Given the description of an element on the screen output the (x, y) to click on. 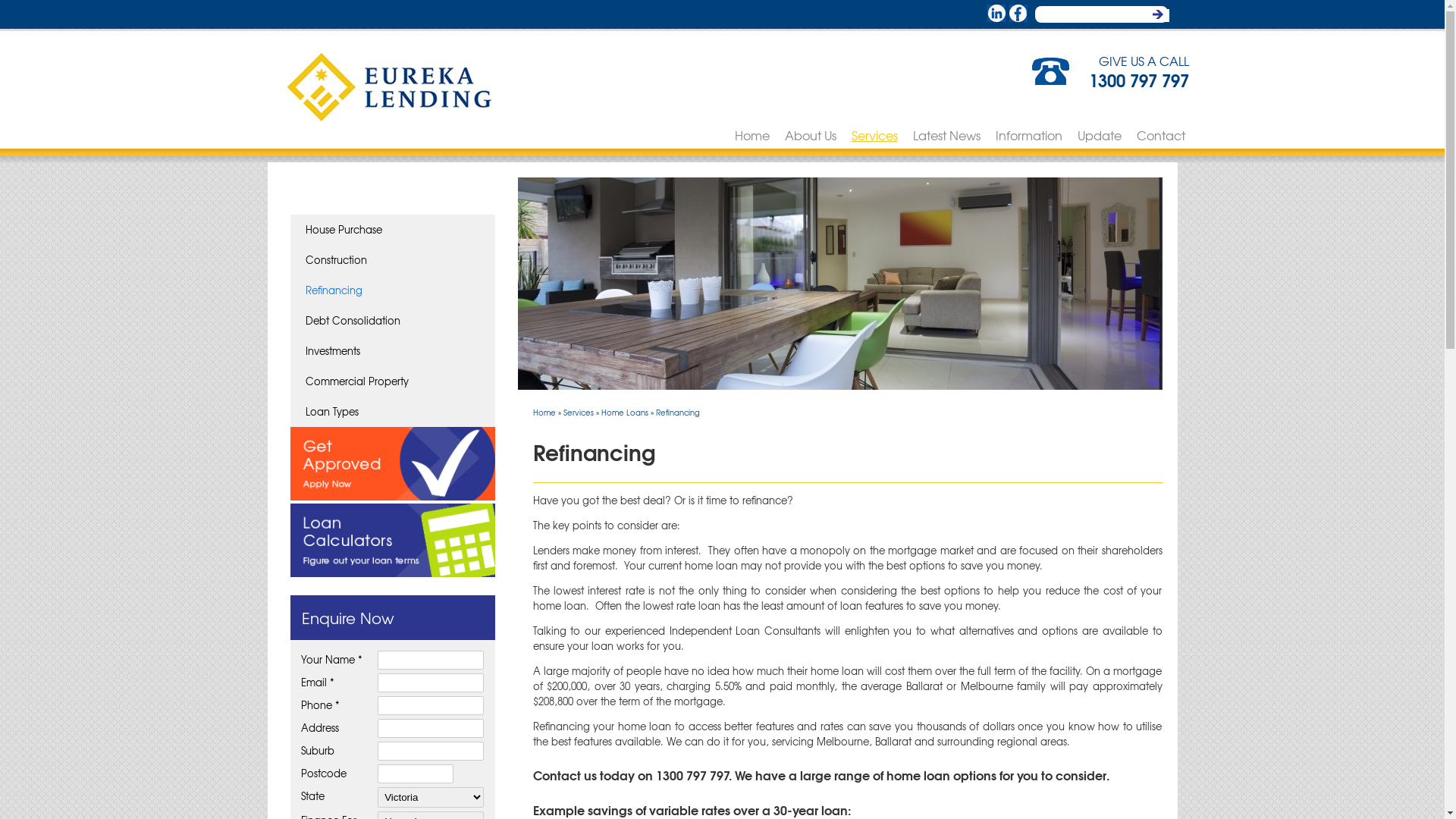
Find Eureka Lending Group On Facebook Element type: hover (1017, 12)
Latest News Element type: text (946, 134)
Contact Element type: text (1160, 134)
Phone Eureka Lending Group - 1300 797 797 Element type: hover (1050, 71)
Home Loans Element type: text (623, 411)
About Us Element type: text (809, 134)
Services Element type: text (873, 134)
Investments Element type: text (391, 350)
Loan Types Element type: text (391, 411)
House Purchase Element type: text (391, 229)
Services Element type: text (577, 411)
Update Element type: text (1098, 134)
Information Element type: text (1028, 134)
Eureka Lending Group Element type: hover (389, 87)
Home Element type: text (751, 134)
Construction Element type: text (391, 259)
Commercial Property Element type: text (391, 381)
Please enter 10 digit phone number Element type: hover (430, 705)
Linked In - Eureka Lending Group Element type: hover (996, 12)
Enter Your Name Element type: hover (430, 659)
Refinancing Element type: text (391, 290)
Debt Consolidation Element type: text (391, 320)
Refinancing Element type: text (677, 411)
Home Element type: text (543, 411)
